Given the description of an element on the screen output the (x, y) to click on. 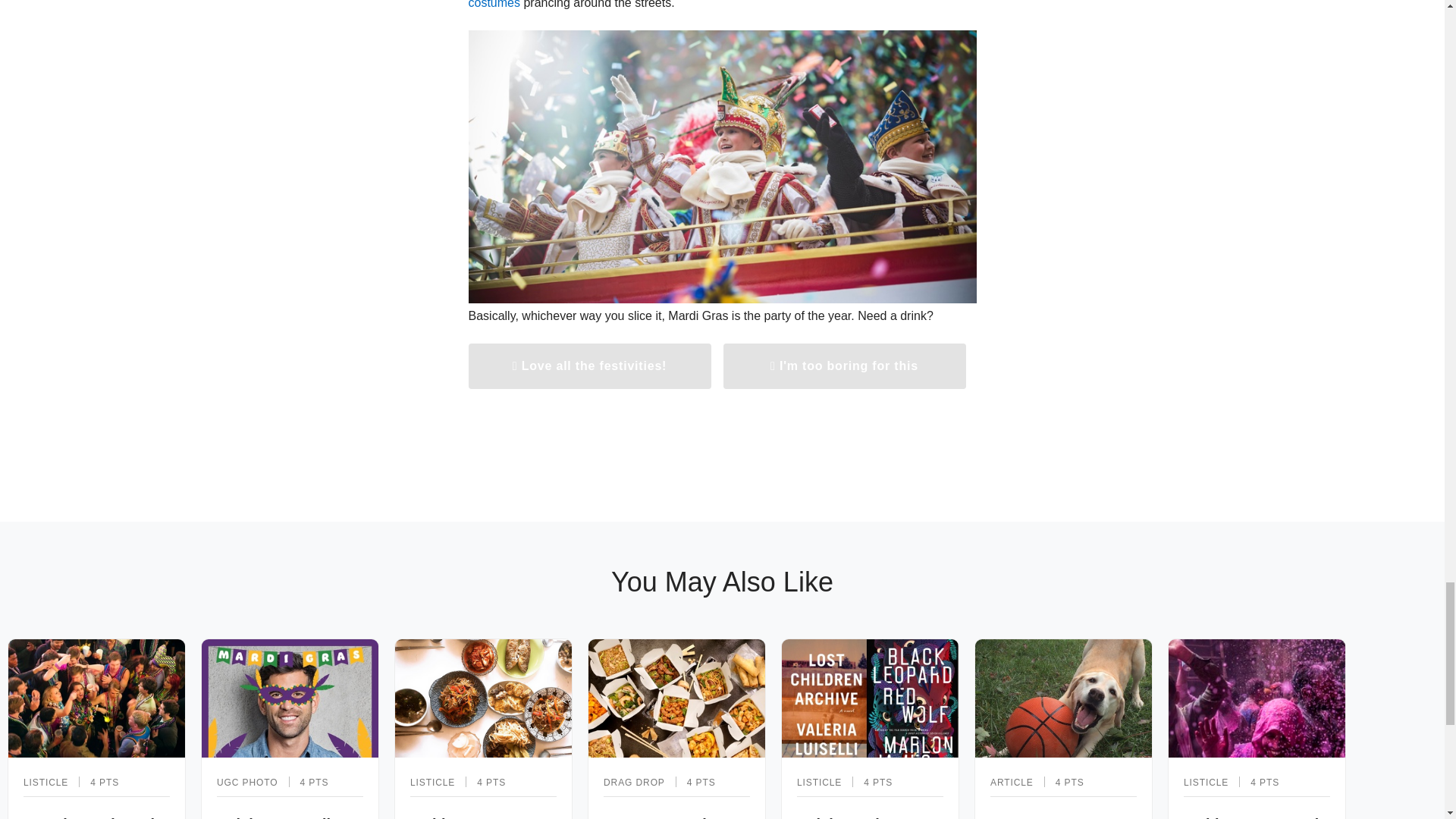
a million revelers in costumes (696, 4)
5 Things You Need to Know About the Hindu Festival of Holi (1256, 728)
I'm too boring for this (844, 366)
Not Into Basketball? March Mammal Madness Has You Covered (1063, 728)
Love all the festivities! (589, 366)
